Given the description of an element on the screen output the (x, y) to click on. 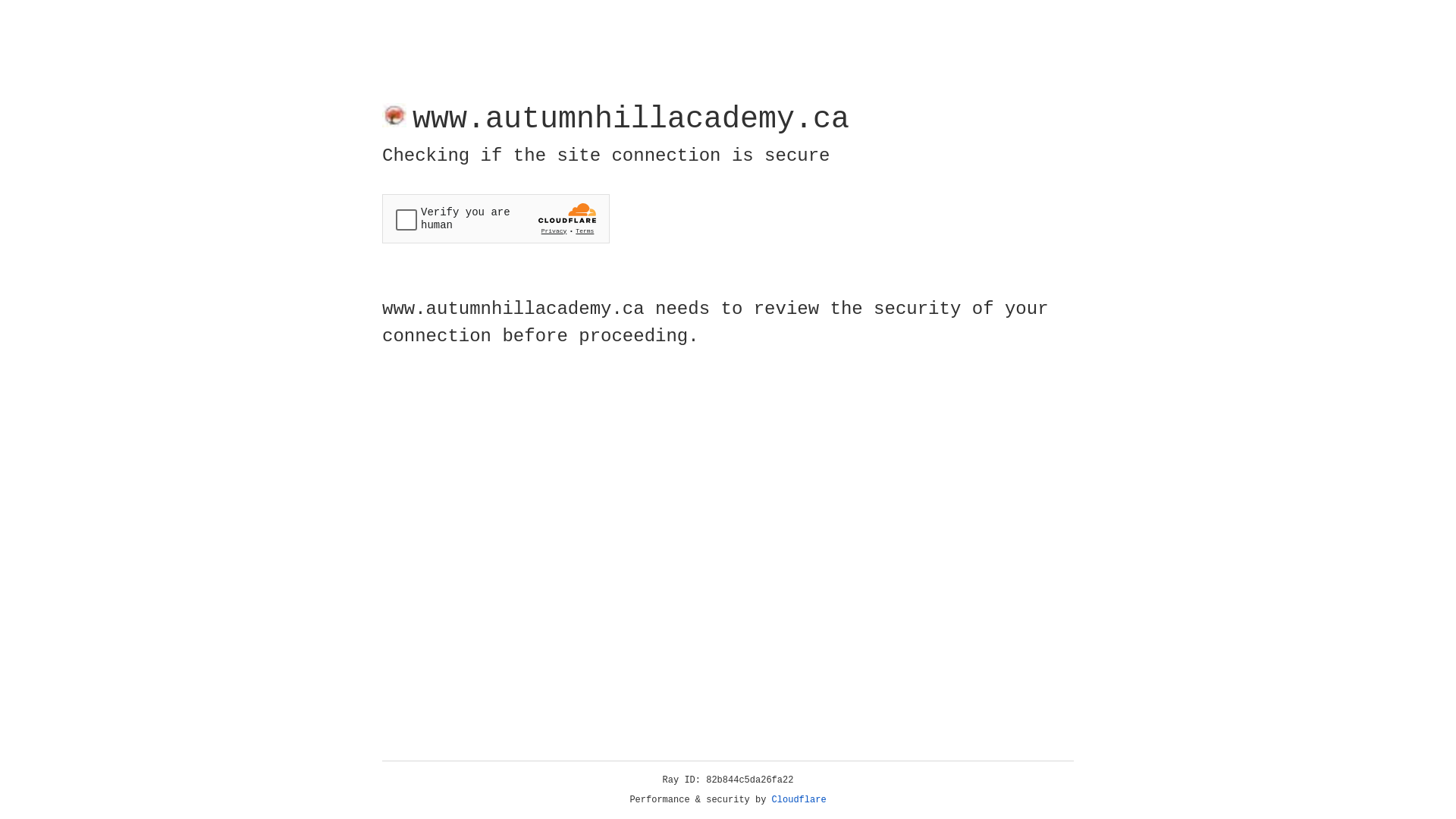
Cloudflare Element type: text (798, 799)
Widget containing a Cloudflare security challenge Element type: hover (495, 218)
